Given the description of an element on the screen output the (x, y) to click on. 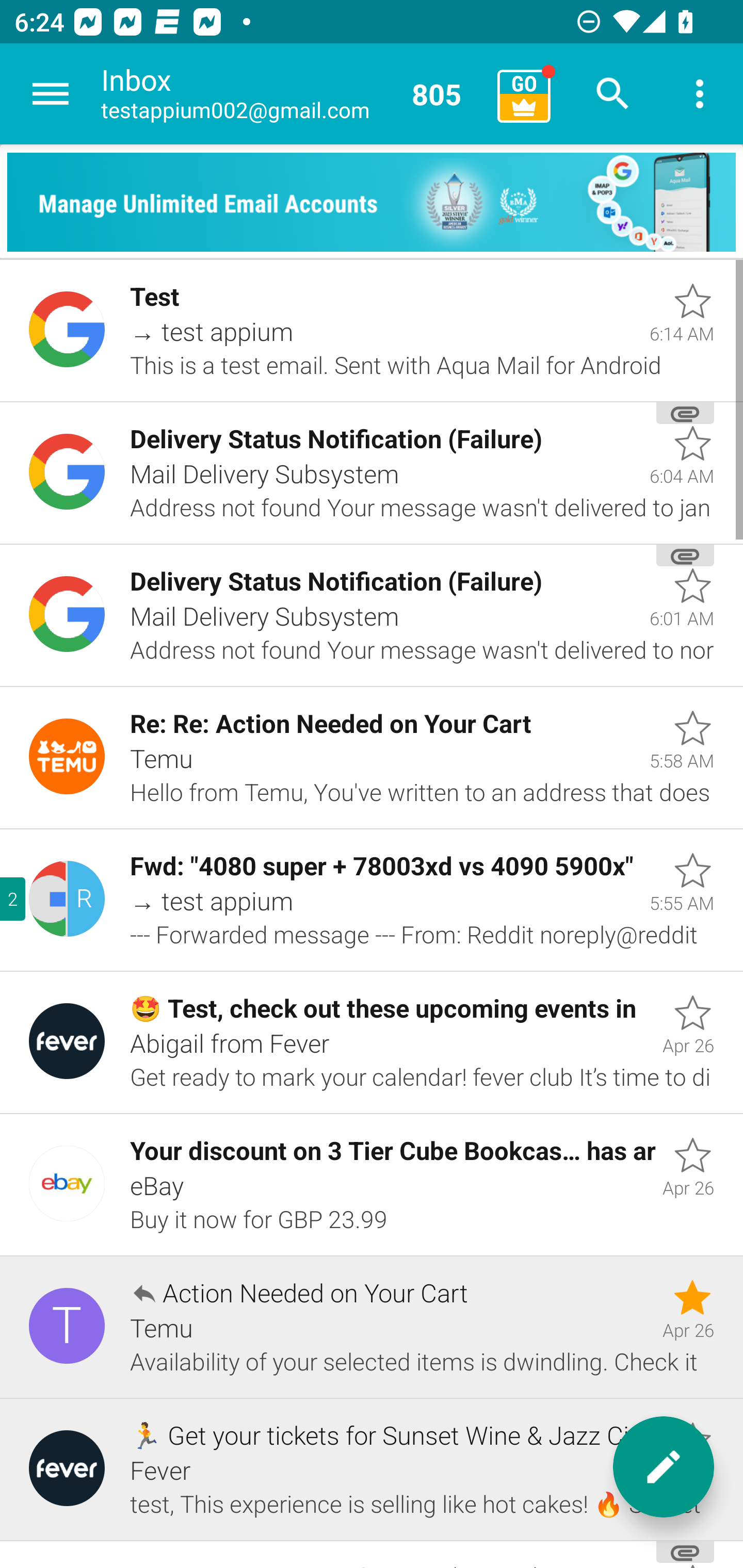
Navigate up (50, 93)
Inbox testappium002@gmail.com 805 (291, 93)
Search (612, 93)
More options (699, 93)
New message (663, 1466)
